Given the description of an element on the screen output the (x, y) to click on. 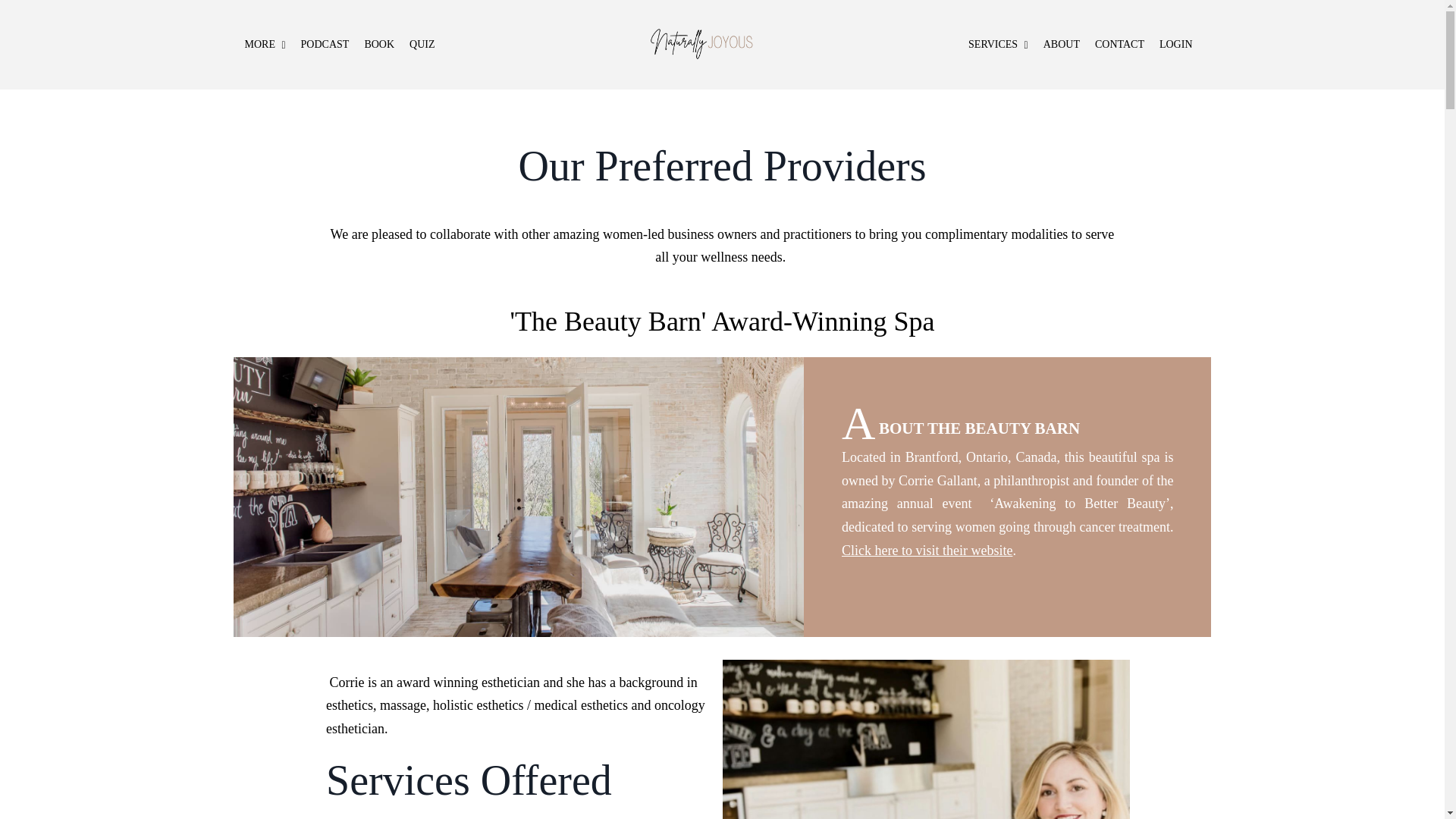
Click here to visit their website (926, 549)
PODCAST (325, 45)
MORE (264, 45)
ABOUT (1061, 45)
SERVICES (997, 45)
QUIZ (421, 45)
CONTACT (1119, 45)
LOGIN (1175, 45)
BOOK (379, 45)
'The Beauty Barn' Award-Winning Spa (721, 321)
